Given the description of an element on the screen output the (x, y) to click on. 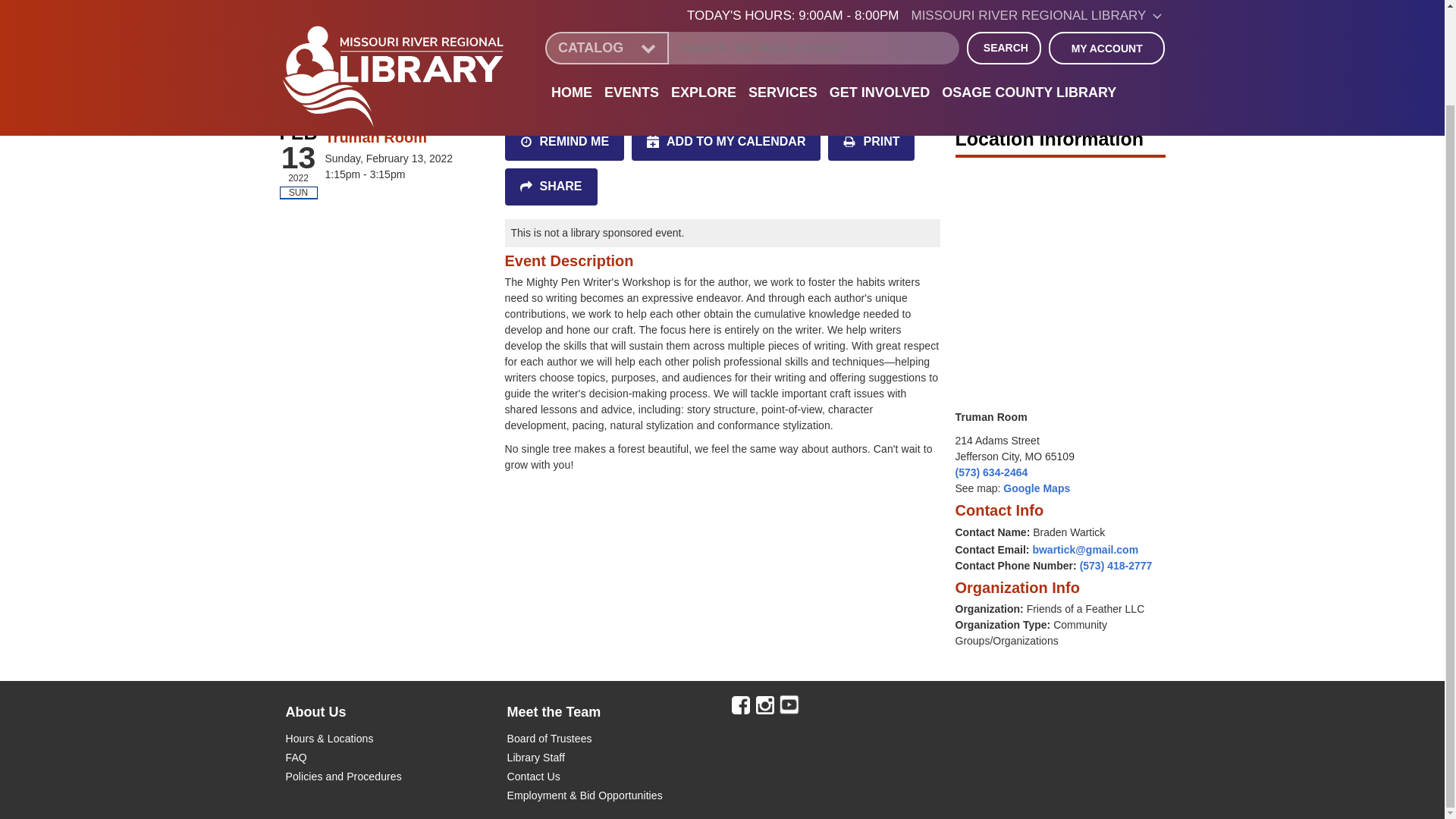
MRRL YouTube Link (788, 704)
Board of Trustees (548, 738)
Add To My Calendar (726, 141)
Contact Us Page (532, 776)
Policies (303, 776)
Remind Me (564, 141)
Share this event (550, 186)
Library Staff Page (535, 757)
Print this event (871, 141)
Policies and Procedures (362, 776)
MRRL Facebook Link (740, 704)
Frequently Asked Questions (295, 757)
